Given the description of an element on the screen output the (x, y) to click on. 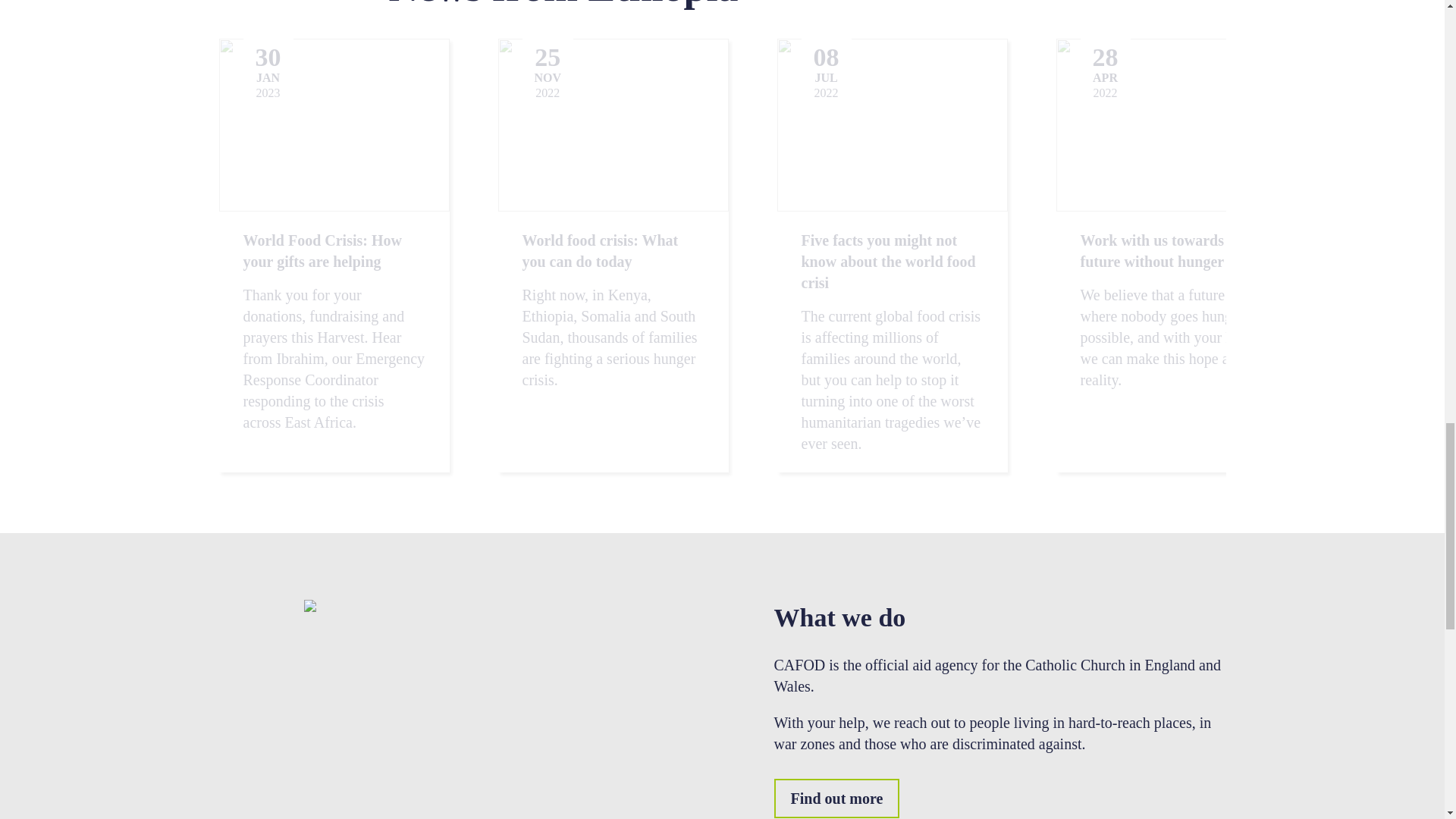
Work with us towards a future without hunger (1157, 250)
World food crisis: What you can do today (599, 250)
Five facts you might not know about the world food crisi (887, 261)
World Food Crisis: How your gifts are helping (322, 250)
